Given the description of an element on the screen output the (x, y) to click on. 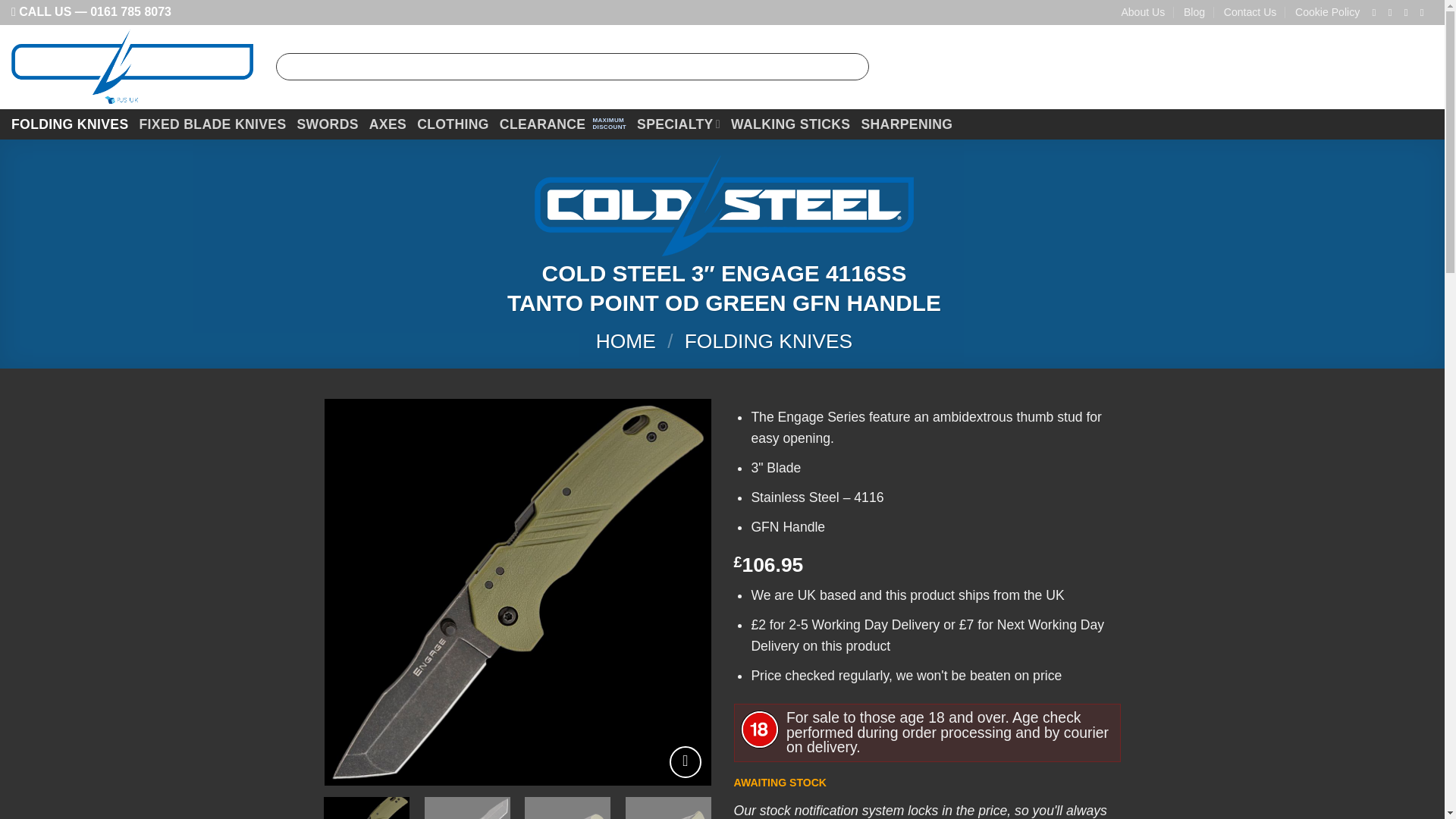
Contact Us (1250, 12)
SPECIALTY (678, 123)
Cookie Policy (1327, 12)
About Us (1142, 12)
Login (1293, 66)
AXES (387, 123)
FIXED BLADE KNIVES (211, 123)
FOLDING KNIVES (69, 123)
LOGIN (1293, 66)
0161 785 8073 (130, 11)
Search (853, 67)
CLOTHING (452, 123)
Cold Steel (724, 205)
CLEARANCE (562, 123)
SWORDS (327, 123)
